Given the description of an element on the screen output the (x, y) to click on. 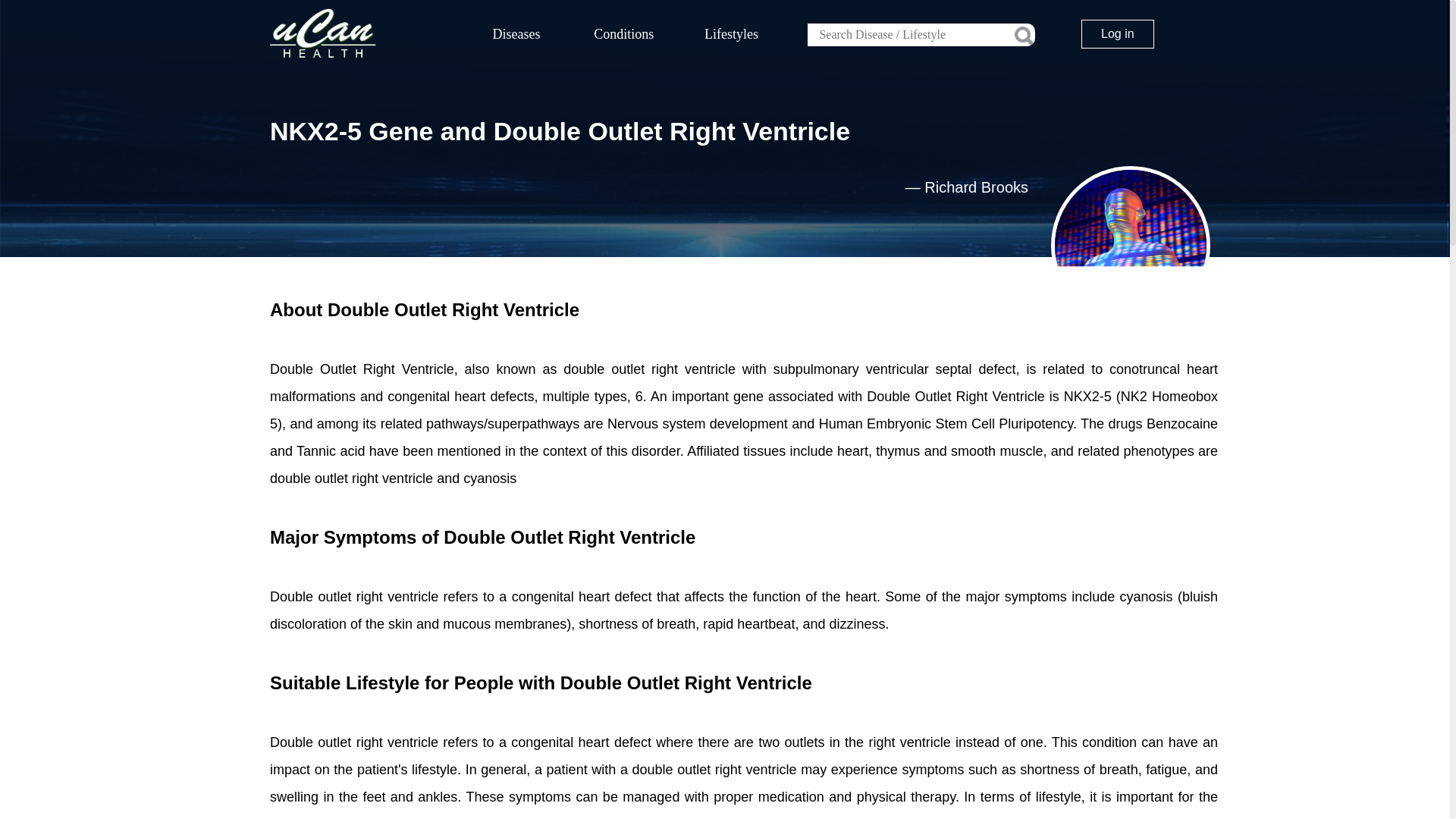
Richard Brooks (975, 187)
Diseases (516, 34)
Conditions (624, 34)
Log in (1117, 33)
Lifestyles (732, 34)
